Given the description of an element on the screen output the (x, y) to click on. 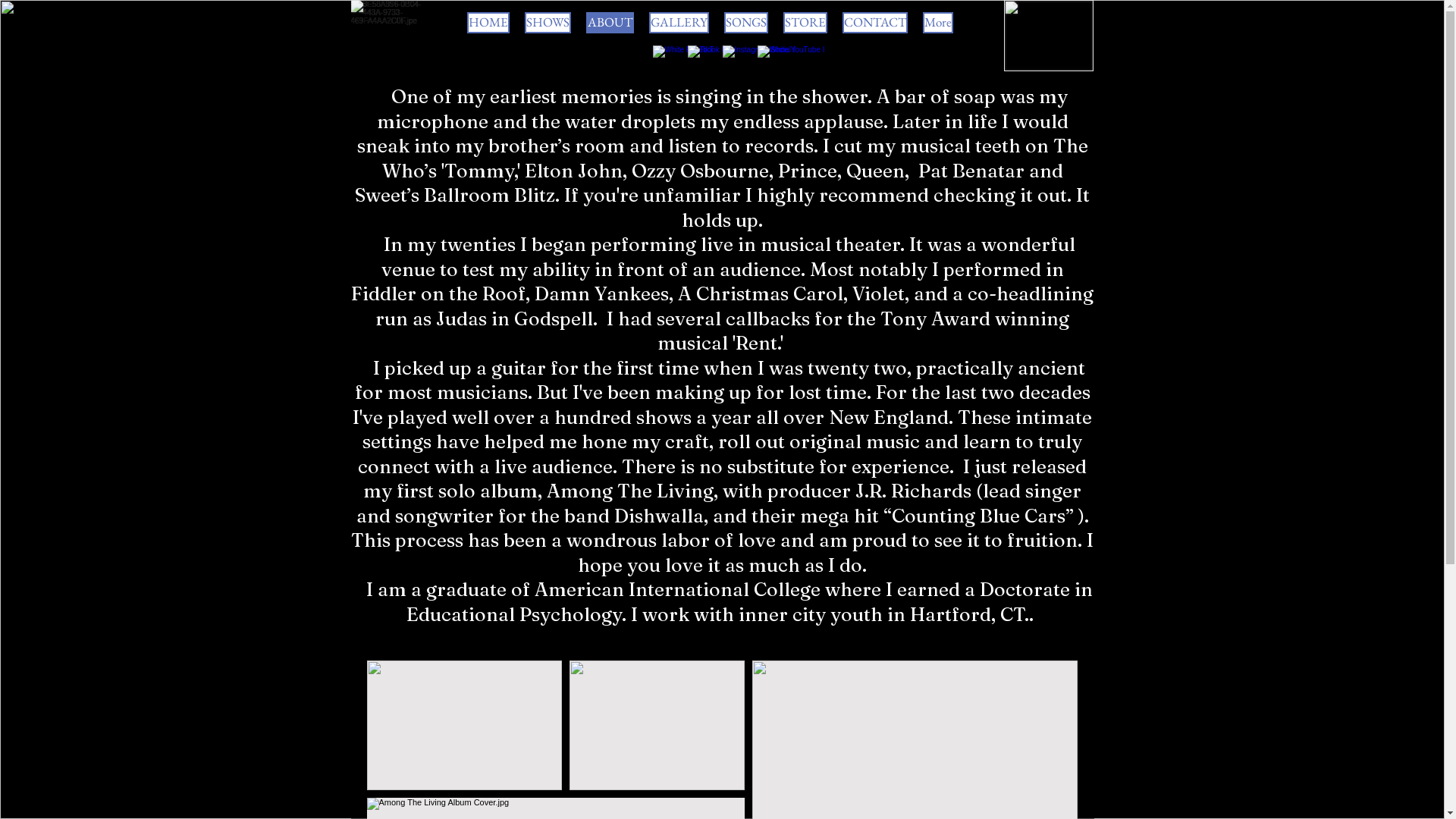
GALLERY Element type: text (679, 23)
SHOWS Element type: text (547, 23)
3E58A896-0B04-443A-9733-469FA4AA2C0F.jpeg Element type: hover (1048, 35)
CONTACT Element type: text (874, 23)
STORE Element type: text (805, 23)
SONGS Element type: text (746, 23)
HOME Element type: text (488, 23)
ABOUT Element type: text (609, 23)
